Given the description of an element on the screen output the (x, y) to click on. 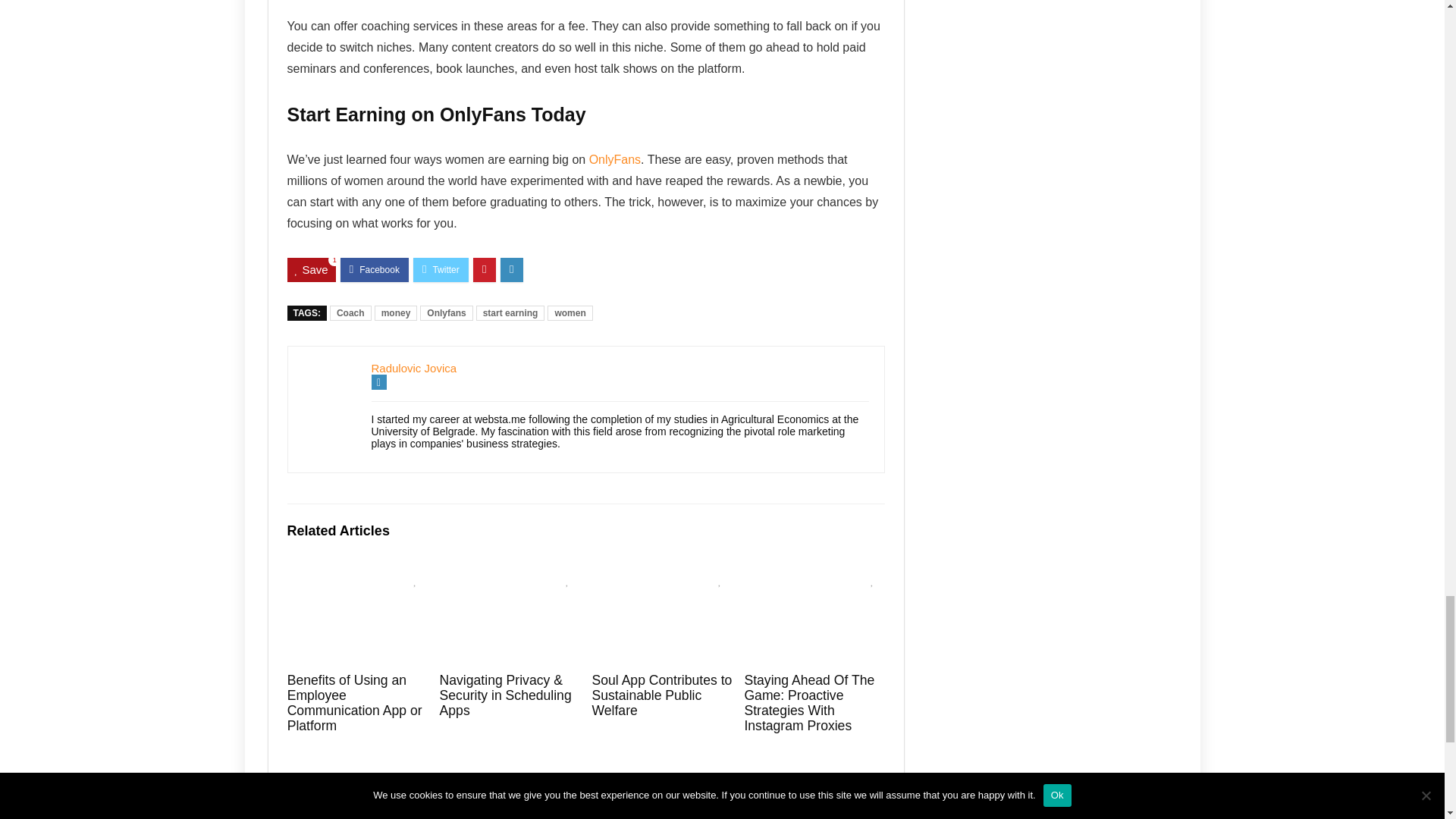
OnlyFans (614, 159)
money (395, 313)
Onlyfans (445, 313)
start earning (510, 313)
Coach (350, 313)
women (569, 313)
Radulovic Jovica (414, 367)
